Given the description of an element on the screen output the (x, y) to click on. 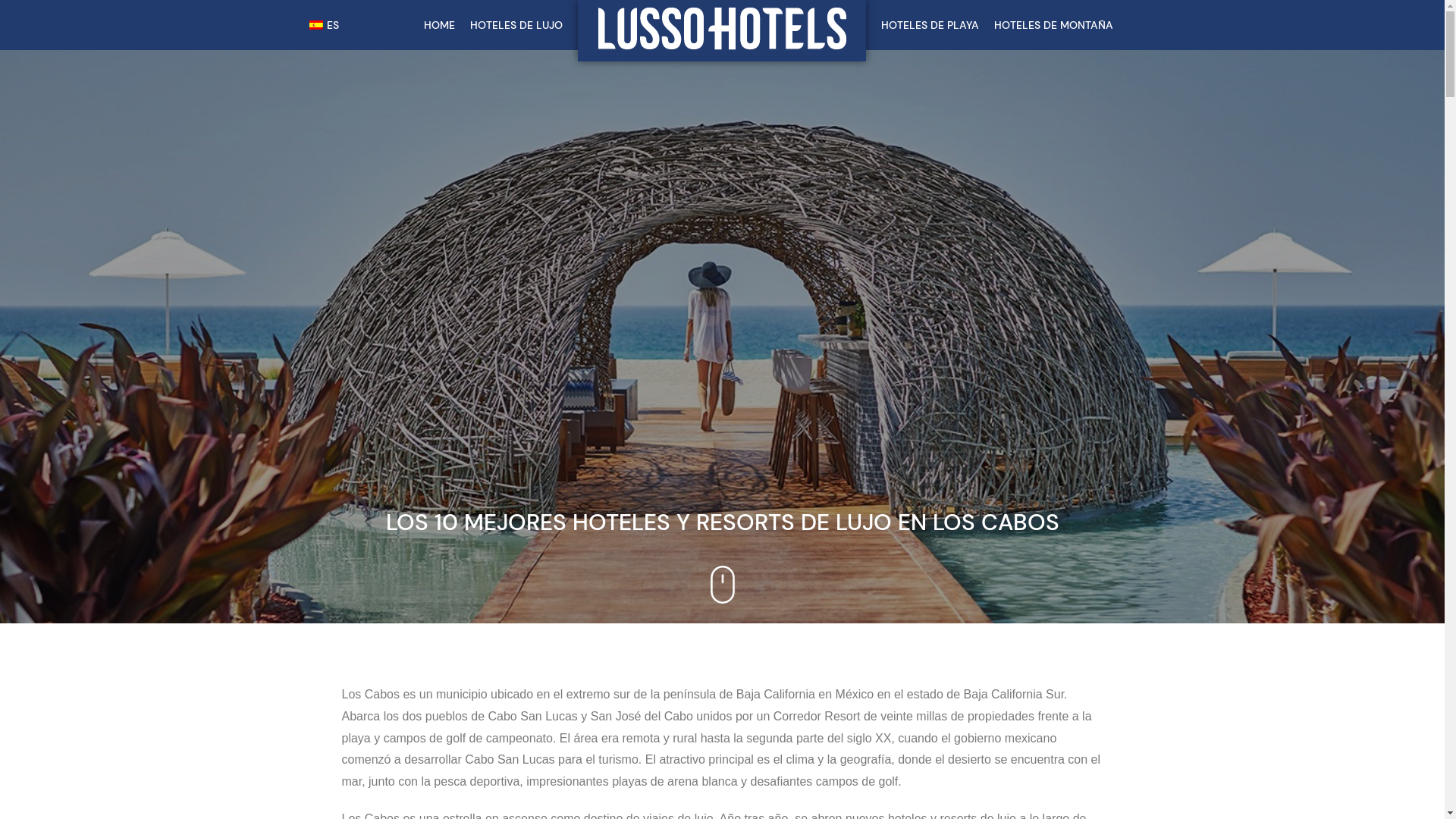
Spanish Element type: hover (316, 24)
HOTELES DE PLAYA Element type: text (929, 24)
ES Element type: text (321, 24)
HOTELES DE LUJO Element type: text (516, 24)
HOME Element type: text (439, 24)
